Given the description of an element on the screen output the (x, y) to click on. 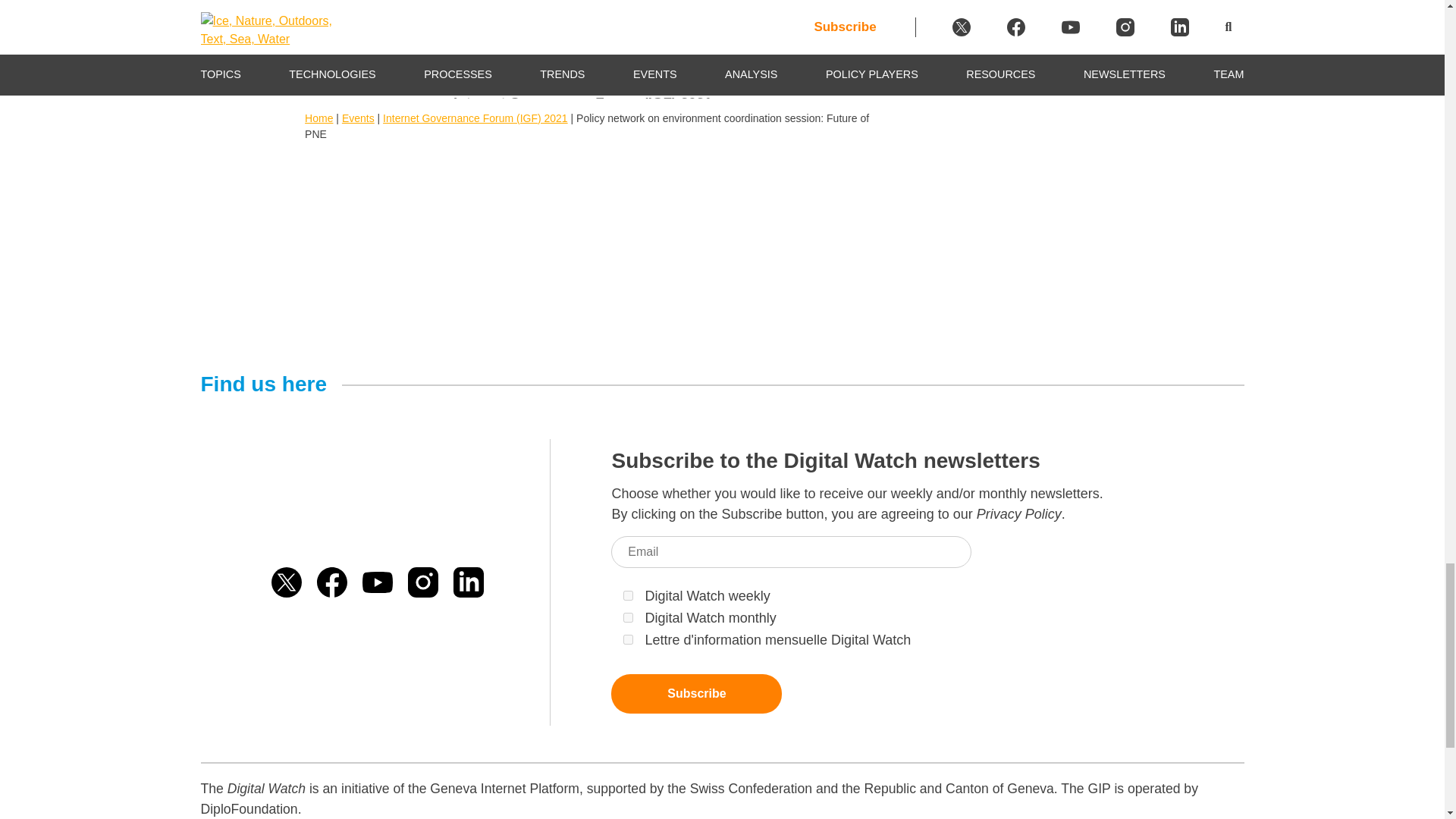
15abf6e35b (628, 639)
3688bacdf5 (628, 595)
9e69e45f01 (628, 617)
